Given the description of an element on the screen output the (x, y) to click on. 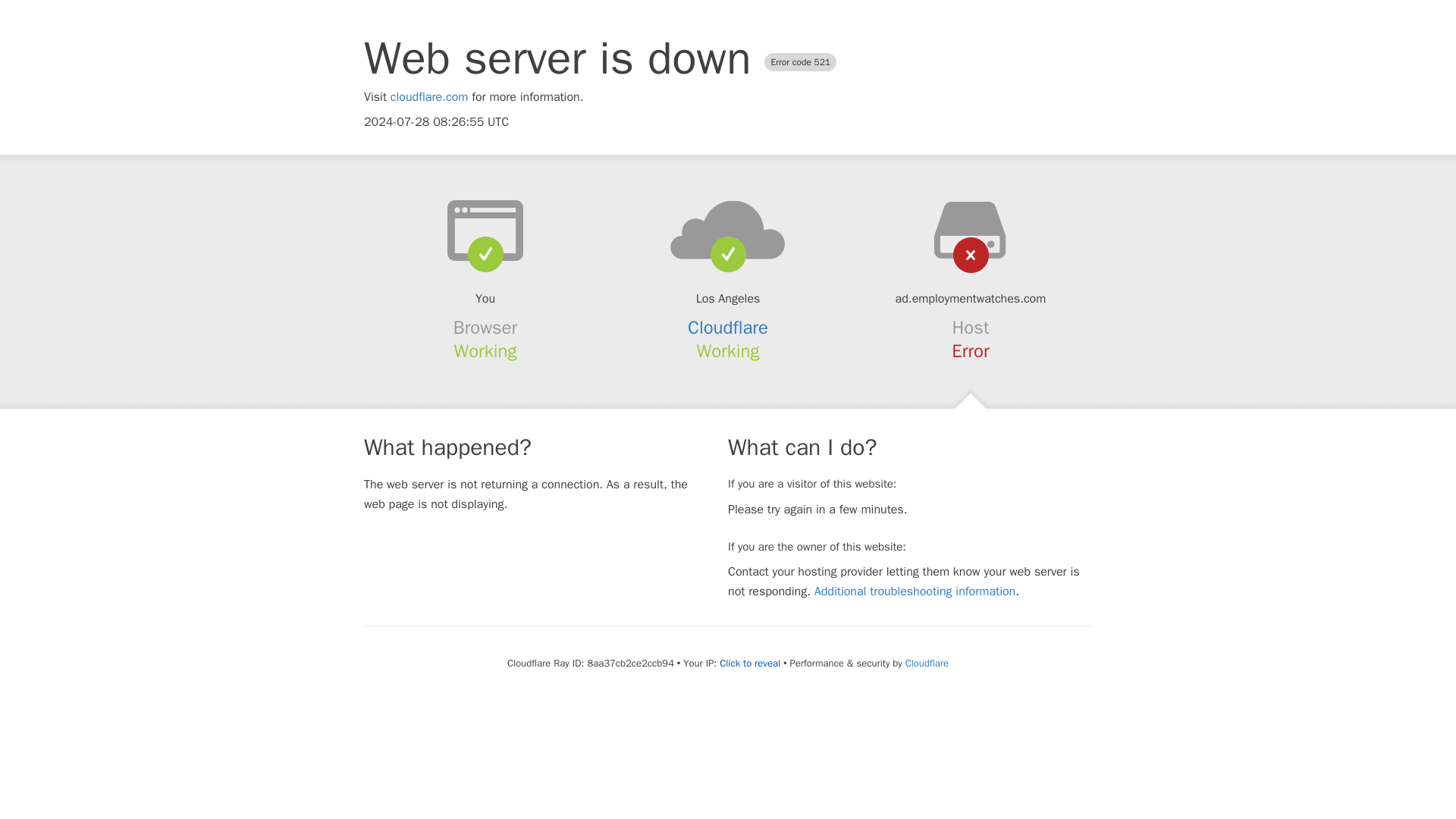
Click to reveal (749, 663)
Additional troubleshooting information (913, 590)
Cloudflare (927, 662)
cloudflare.com (429, 96)
Cloudflare (727, 327)
